Given the description of an element on the screen output the (x, y) to click on. 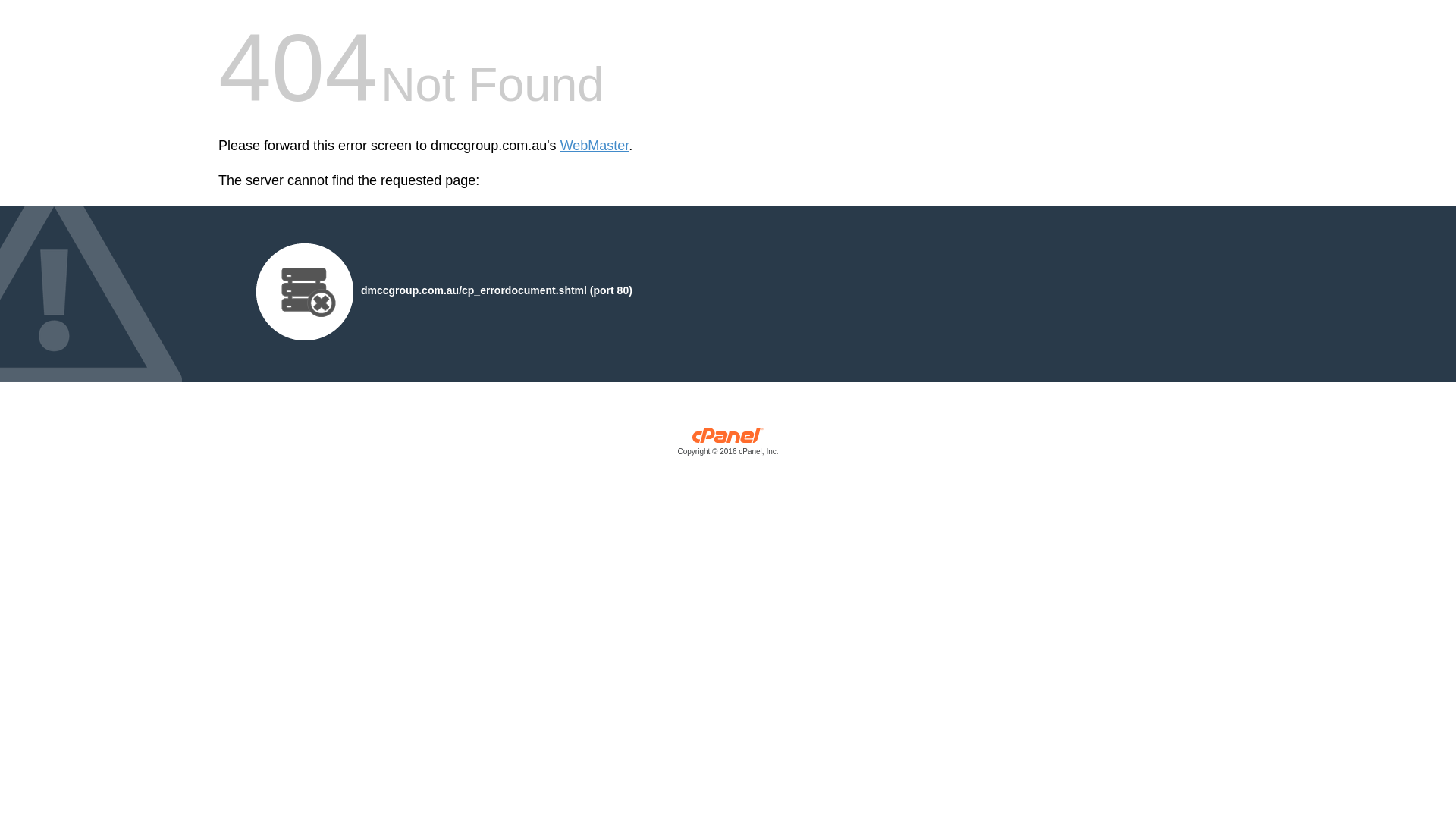
WebMaster Element type: text (594, 145)
